Given the description of an element on the screen output the (x, y) to click on. 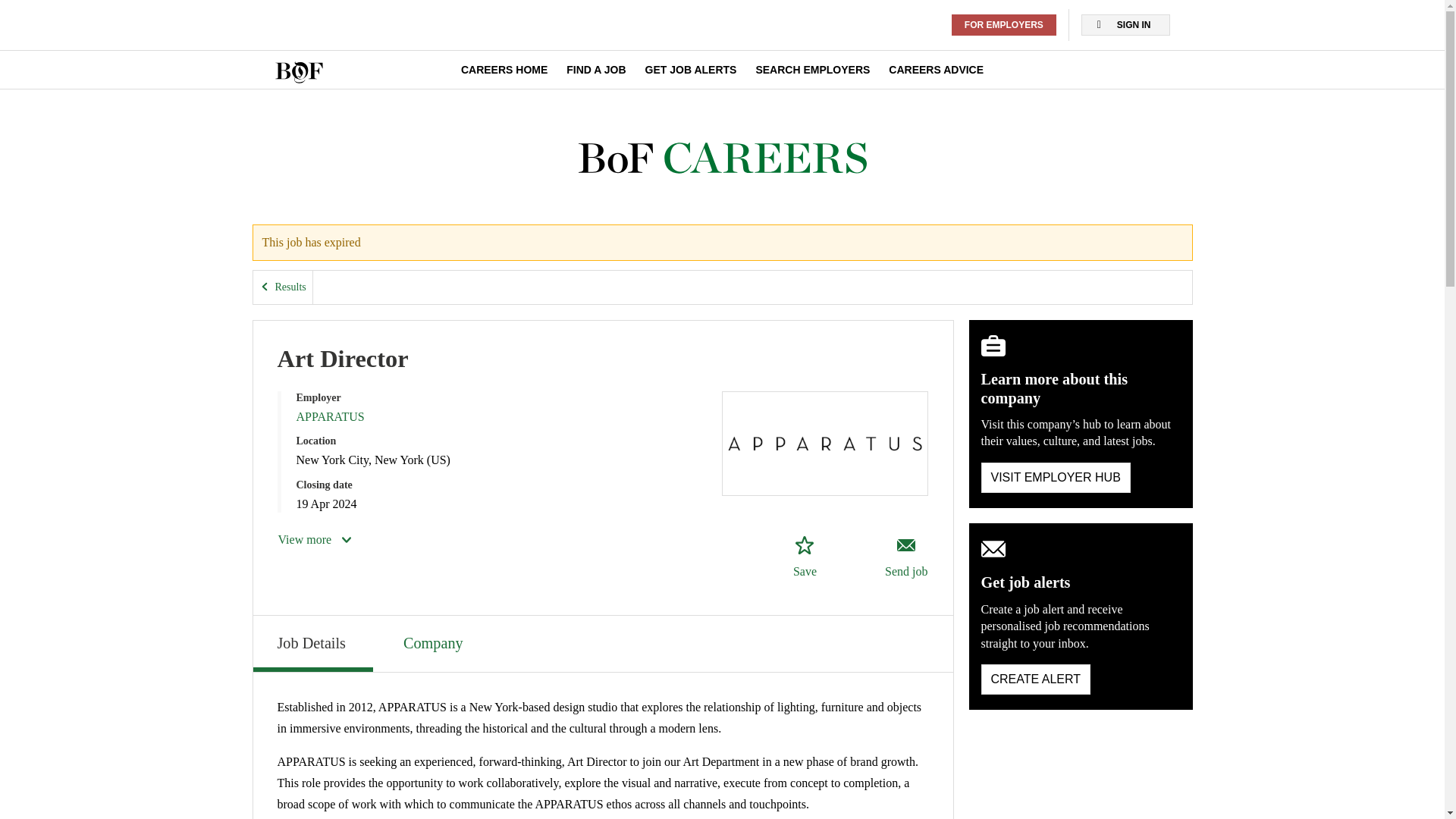
View more (315, 539)
SIGN IN (1125, 25)
VISIT EMPLOYER HUB (1056, 477)
FOR EMPLOYERS (1004, 25)
CAREERS ADVICE (936, 69)
Results (283, 287)
Company (434, 641)
SEARCH EMPLOYERS (812, 69)
CAREERS HOME (504, 69)
Job Details (312, 643)
BoF Careers (722, 158)
FIND A JOB (596, 69)
GET JOB ALERTS (690, 69)
CREATE ALERT (1035, 679)
APPARATUS (329, 416)
